Given the description of an element on the screen output the (x, y) to click on. 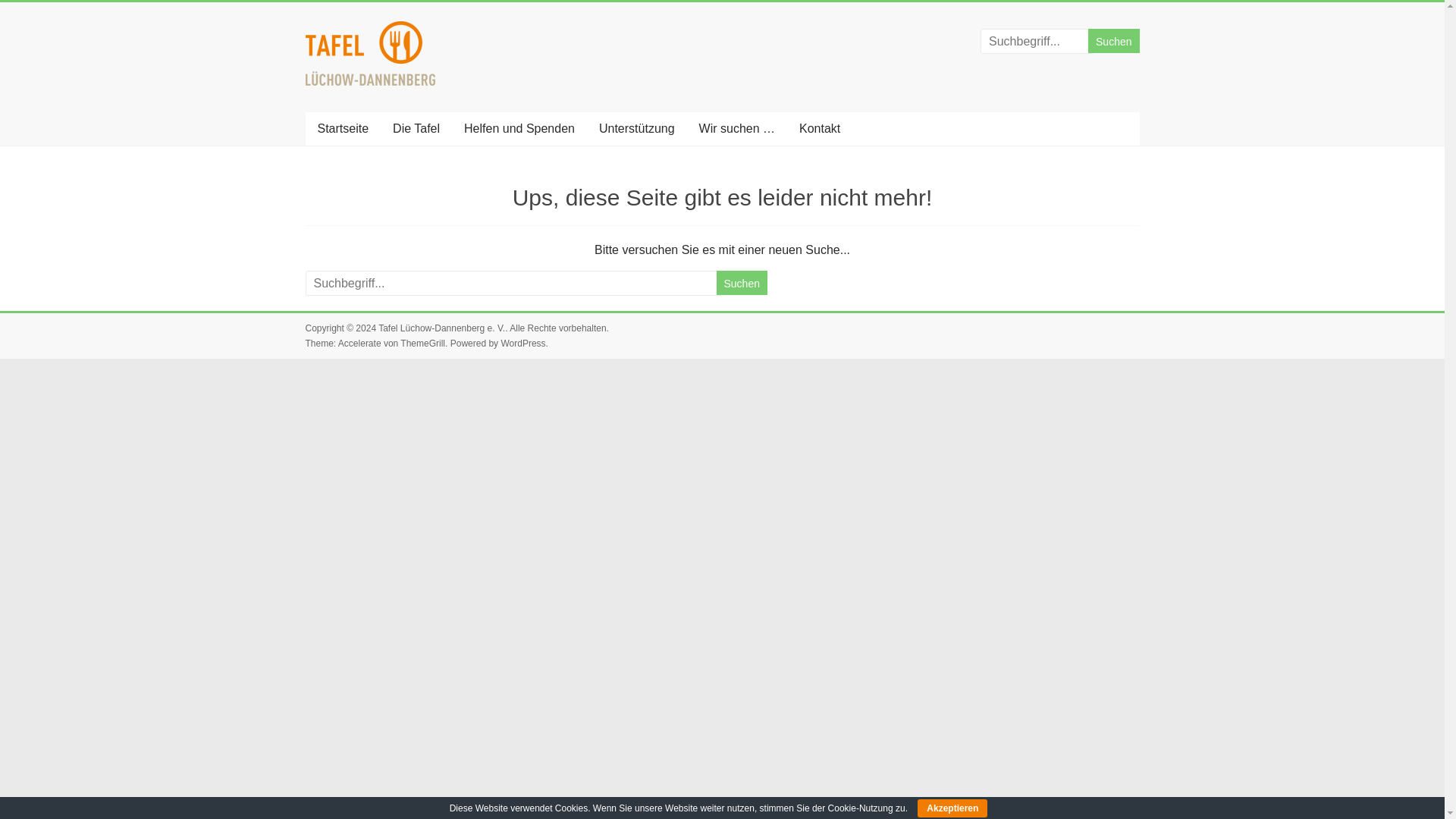
Startseite (342, 128)
Suchen (741, 282)
WordPress (522, 343)
Suchen (1112, 40)
Accelerate (359, 343)
Suchen (741, 282)
Accelerate (359, 343)
WordPress (522, 343)
Helfen und Spenden (518, 128)
Kontakt (819, 128)
